Given the description of an element on the screen output the (x, y) to click on. 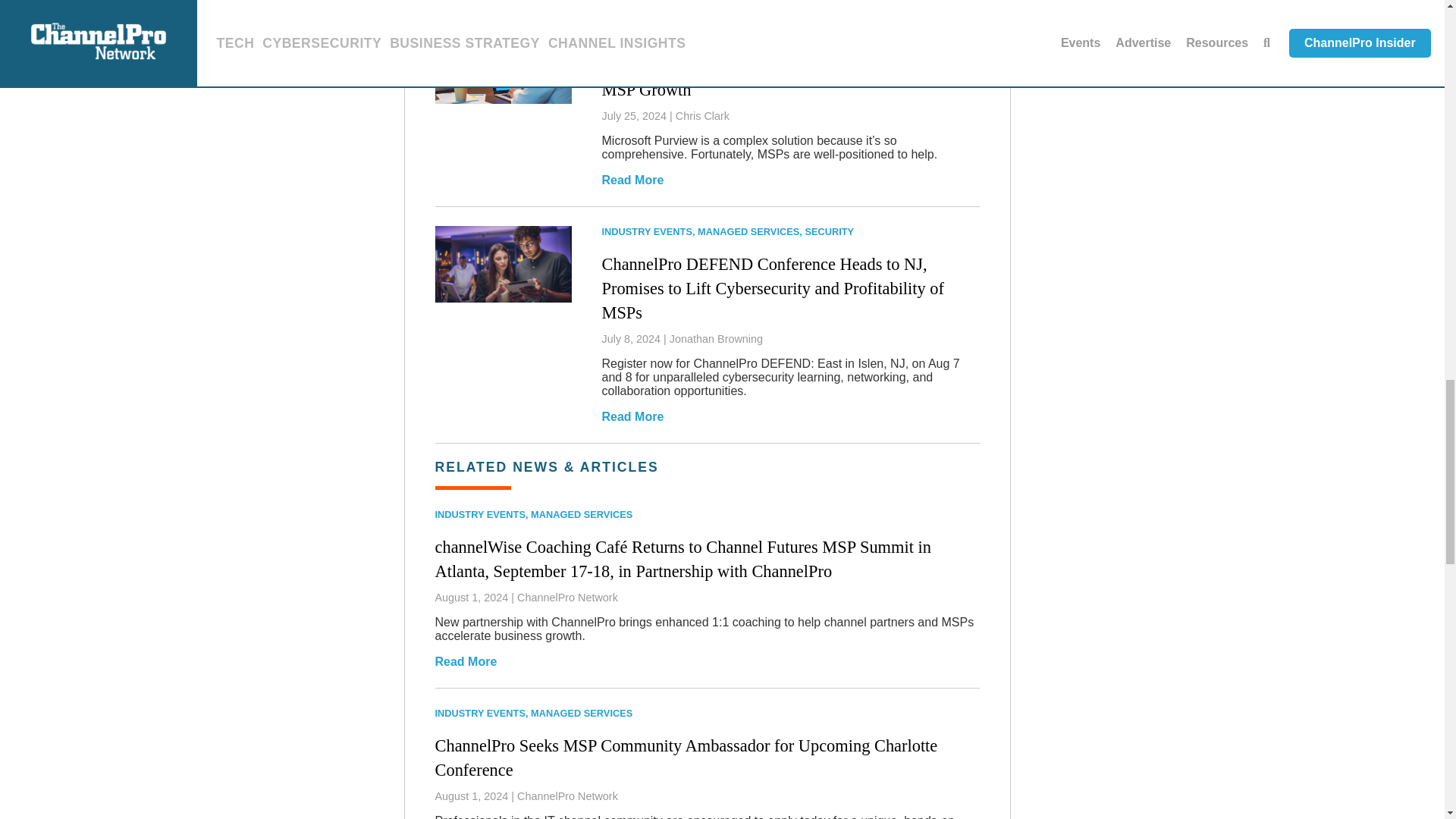
Posts by ChannelPro Network (566, 796)
Posts by Jonathan Browning (715, 338)
Posts by ChannelPro Network (566, 597)
